Given the description of an element on the screen output the (x, y) to click on. 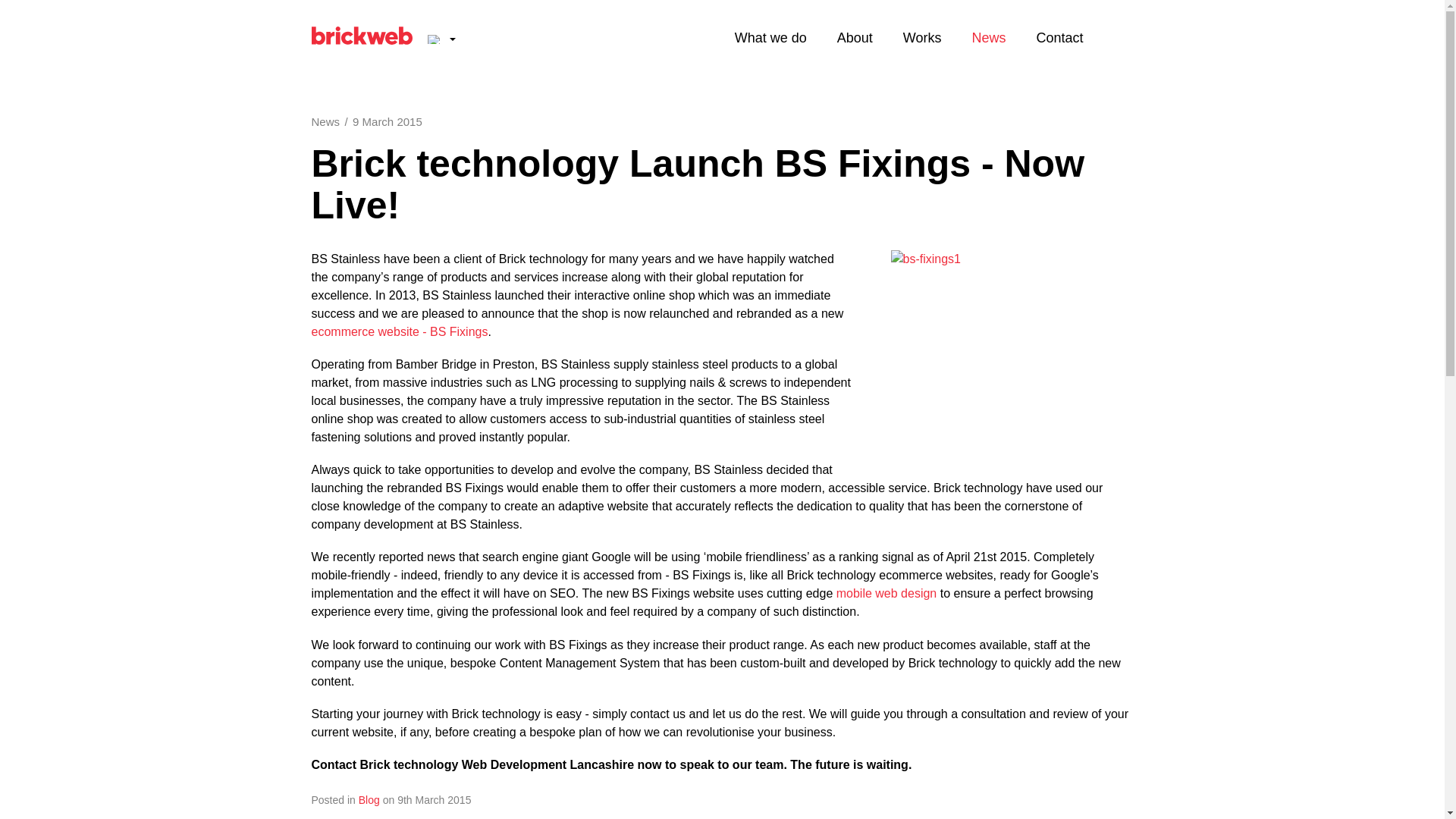
mobile web design (886, 593)
9 March 2015 (387, 121)
Brick technology news (988, 37)
About (855, 37)
Works (922, 37)
Blog (369, 799)
News (325, 121)
Contact (1058, 37)
News (988, 37)
